Given the description of an element on the screen output the (x, y) to click on. 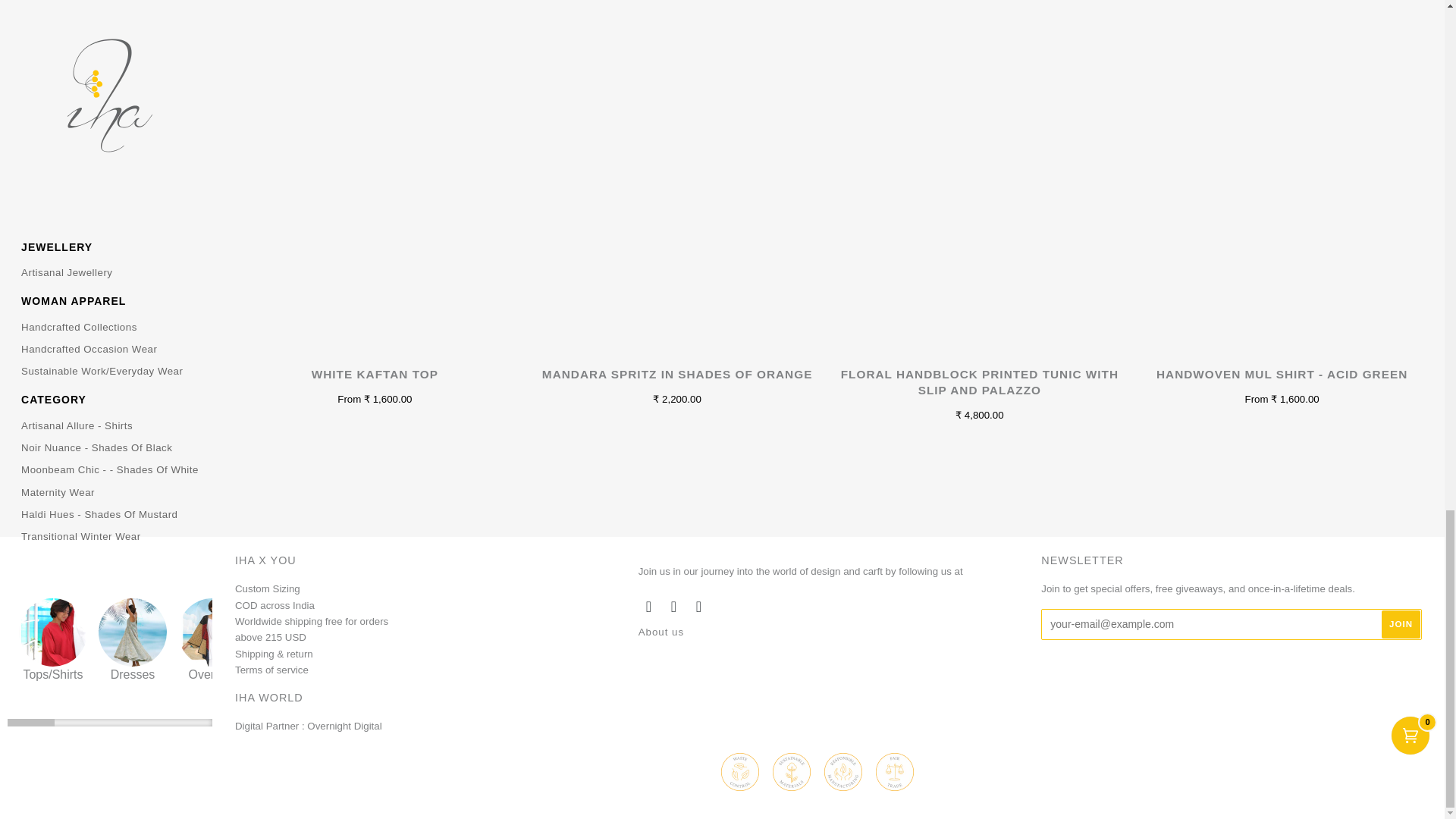
Terms of Service (273, 677)
Join (1401, 624)
